Given the description of an element on the screen output the (x, y) to click on. 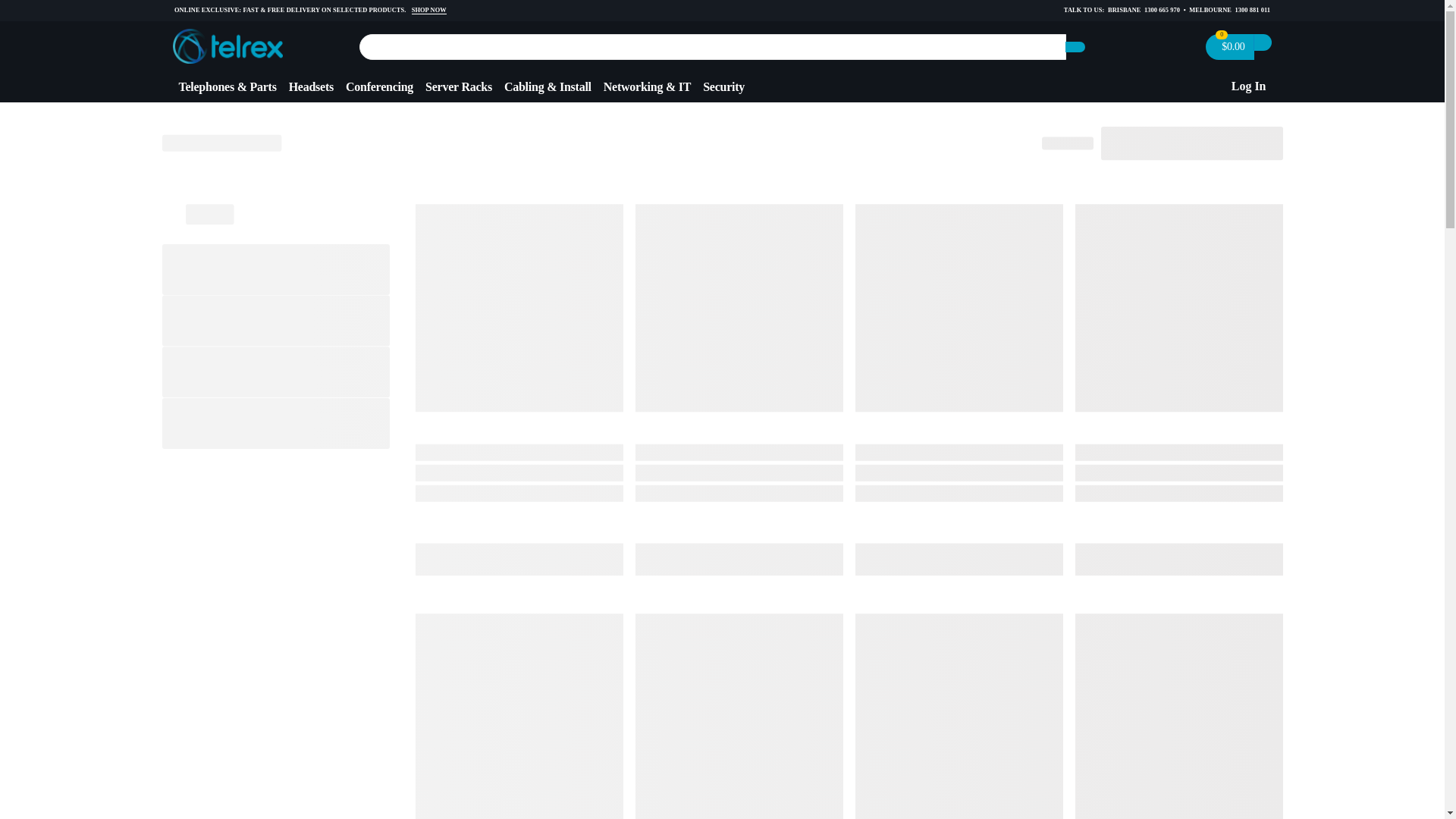
Search (1074, 46)
BRISBANE  1300 665 970 (1143, 9)
MELBOURNE  1300 881 011 (1229, 9)
SHOP NOW (429, 10)
